Given the description of an element on the screen output the (x, y) to click on. 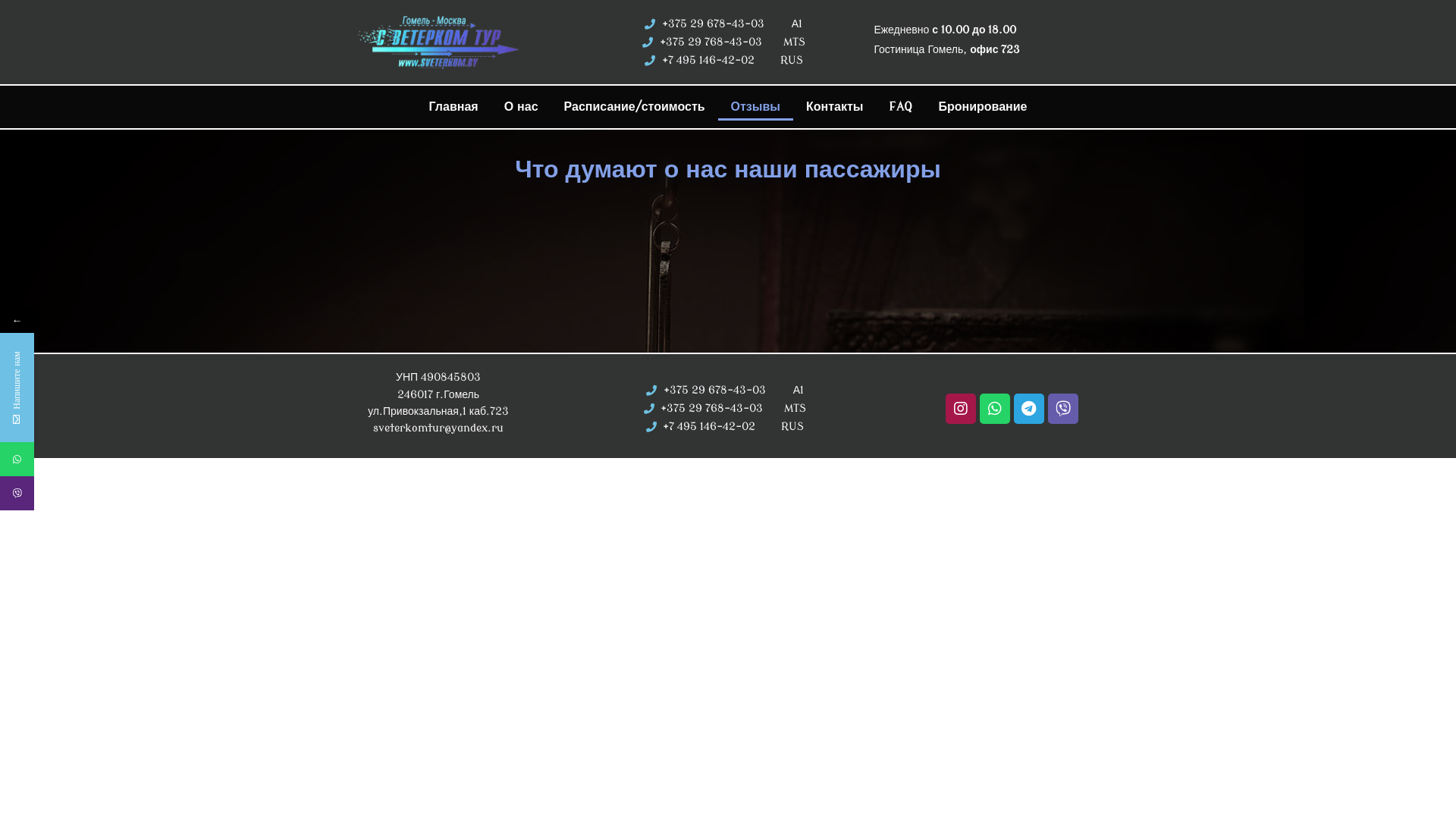
WhatsApp Element type: text (86, 459)
WhatsApp Element type: hover (17, 459)
Viber Element type: text (86, 493)
+375 29 768-43-03   MTS Element type: text (723, 42)
Viber Element type: hover (17, 493)
+7 495 146-42-02   RUS Element type: text (724, 426)
FAQ Element type: text (900, 106)
+375 29 768-43-03   MTS Element type: text (724, 408)
+7 495 146-42-02   RUS Element type: text (723, 60)
